Given the description of an element on the screen output the (x, y) to click on. 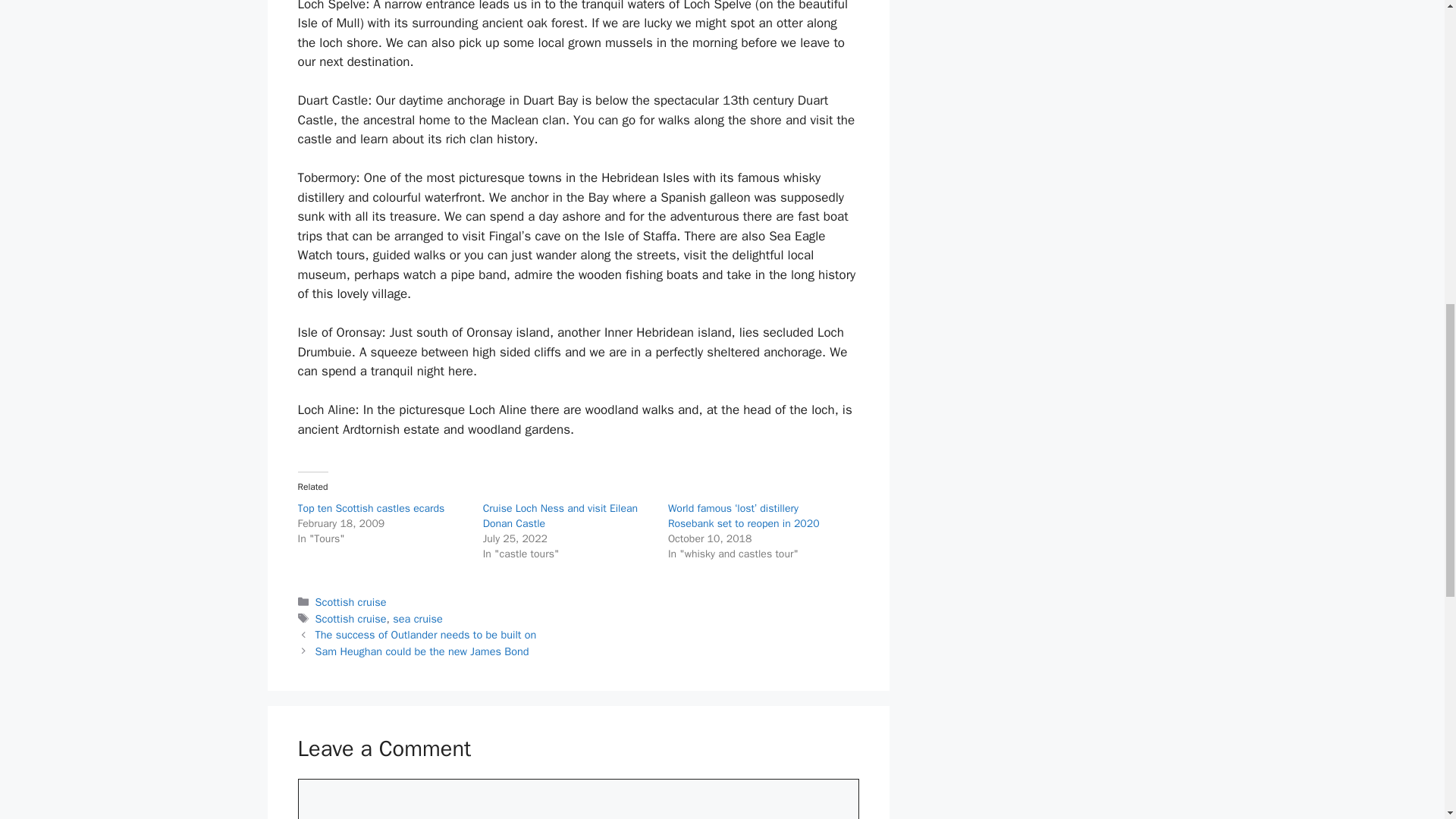
The success of Outlander needs to be built on (426, 634)
sea cruise (417, 618)
Top ten Scottish castles ecards (370, 508)
Top ten Scottish castles ecards (370, 508)
Sam Heughan could be the new James Bond (422, 651)
Scottish cruise (351, 602)
Scottish cruise (351, 618)
Cruise Loch Ness and visit Eilean Donan Castle (560, 515)
Cruise Loch Ness and visit Eilean Donan Castle (560, 515)
